Given the description of an element on the screen output the (x, y) to click on. 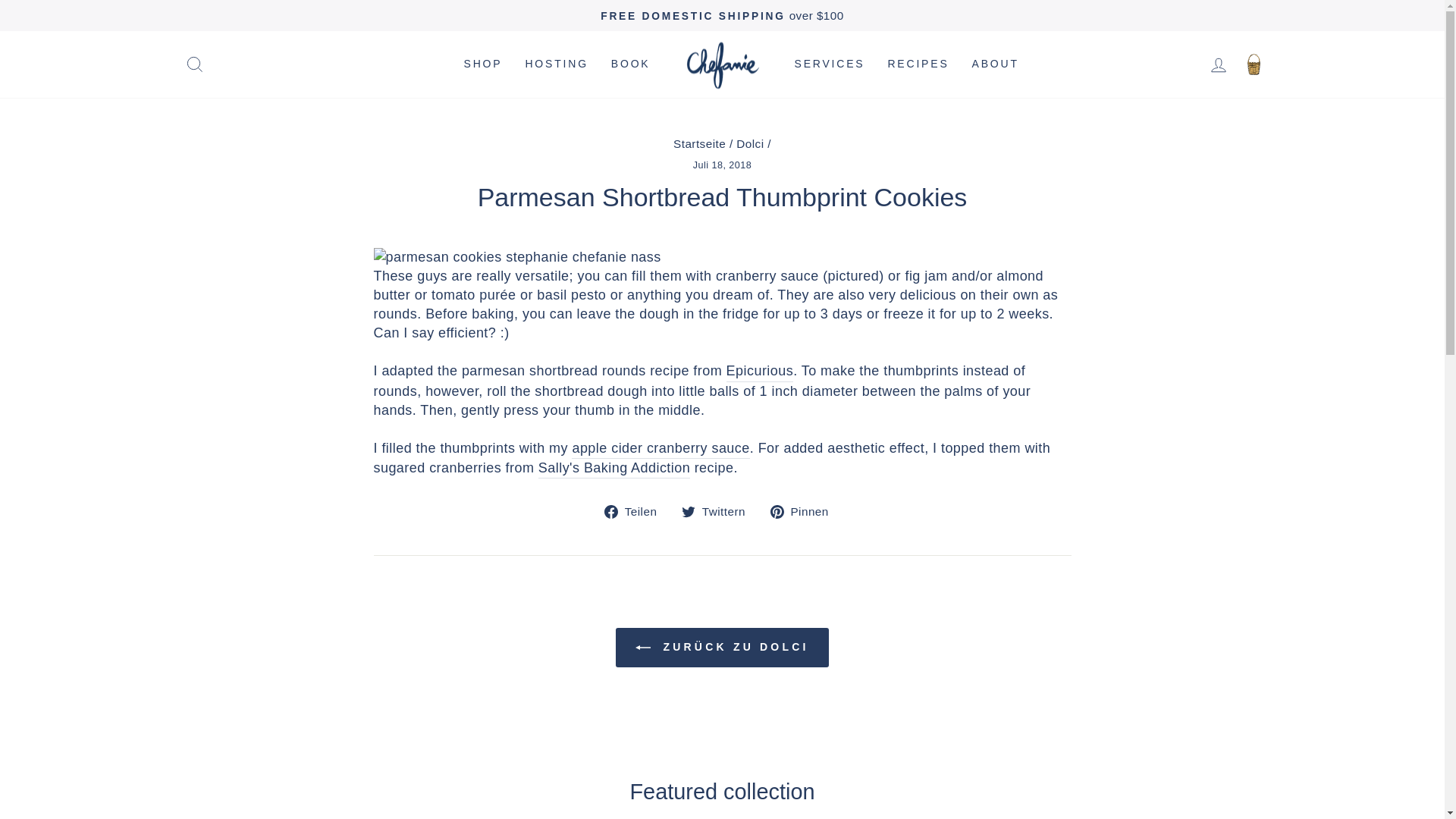
Auf Facebook teilen (636, 510)
Auf Twitter twittern (719, 510)
Auf Pinterest pinnen (805, 510)
